Given the description of an element on the screen output the (x, y) to click on. 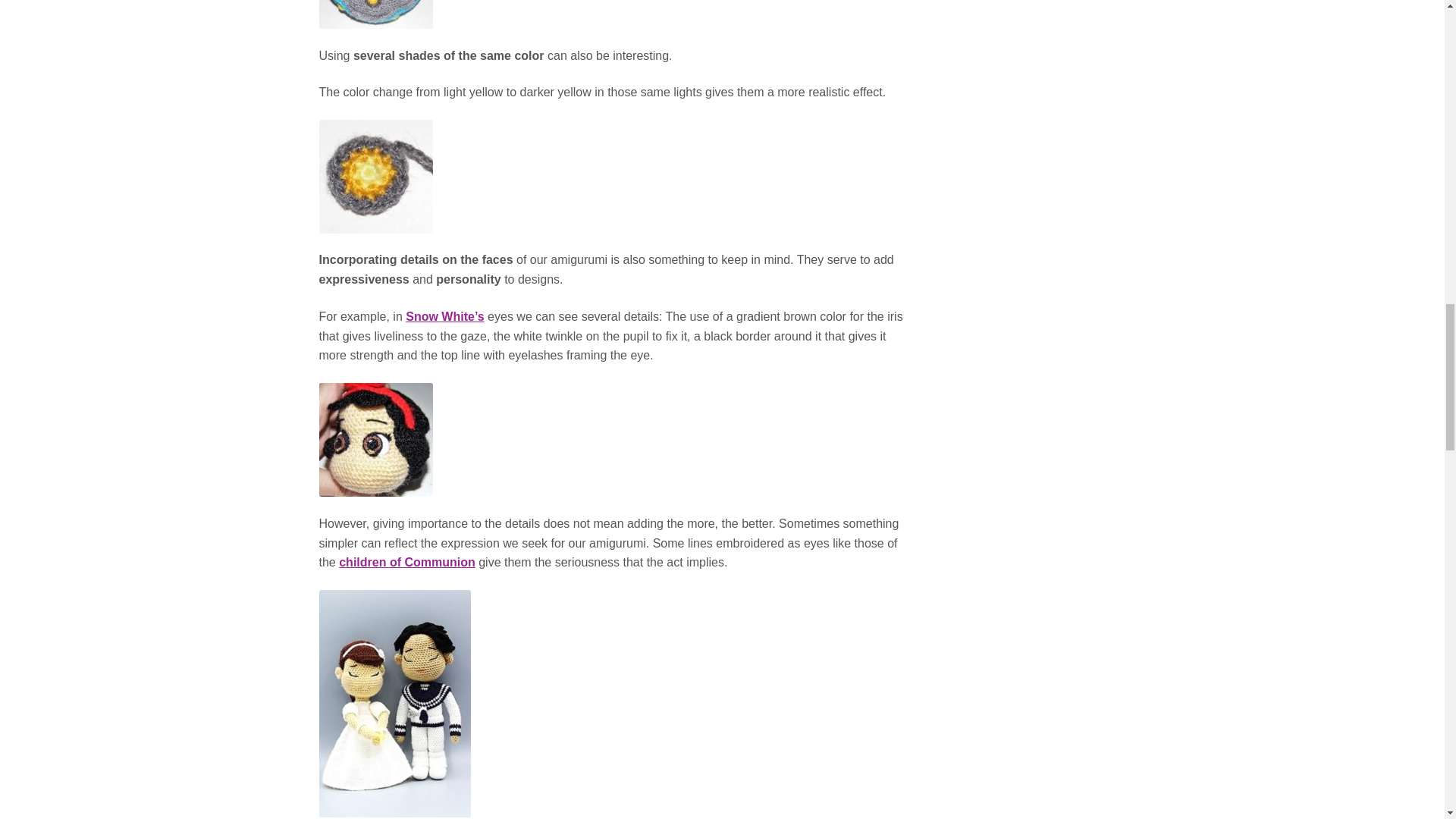
children of Communion (407, 562)
